Given the description of an element on the screen output the (x, y) to click on. 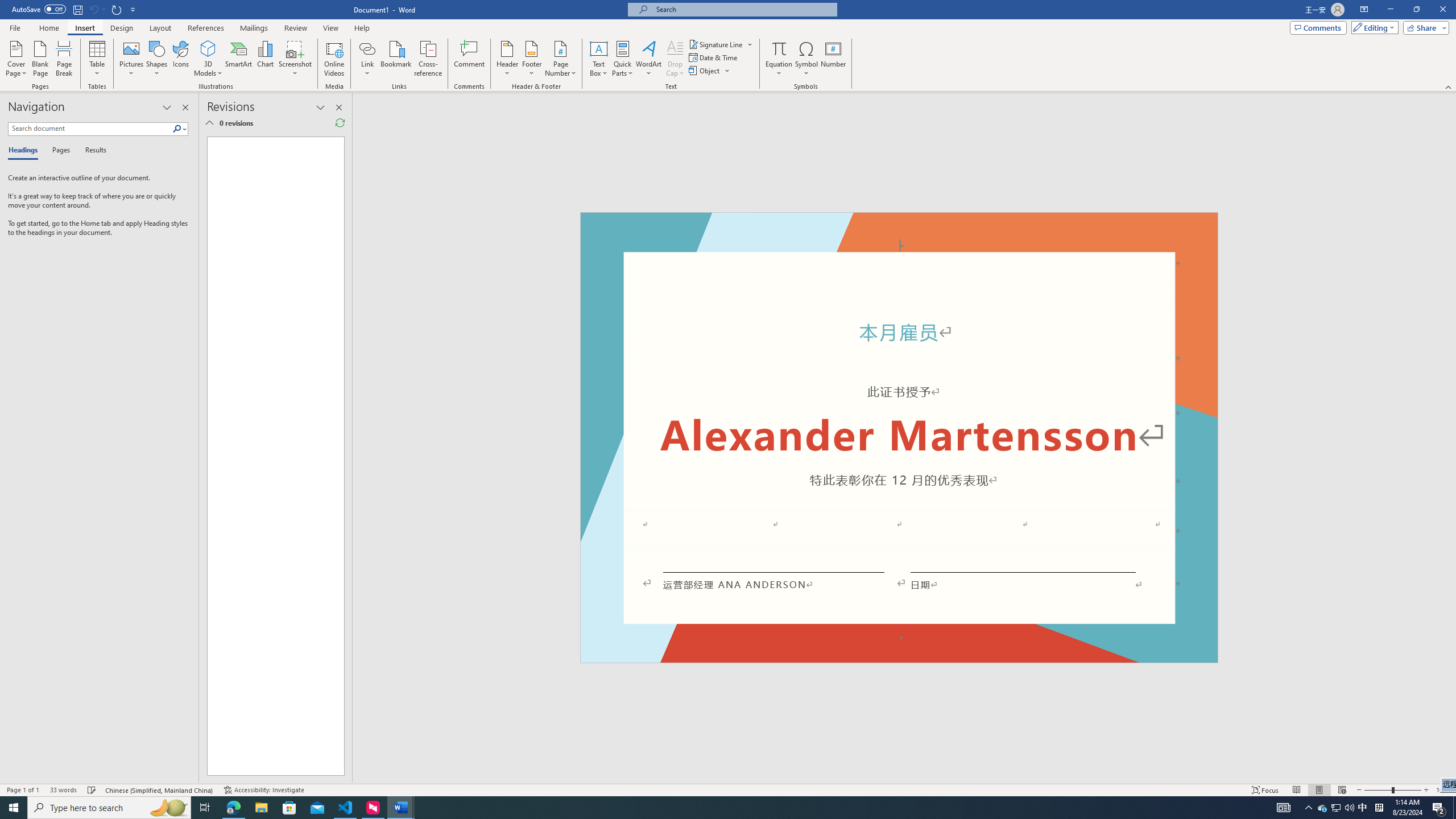
Date & Time... (714, 56)
Pictures (131, 58)
Headings (25, 150)
Icons (180, 58)
Chart... (265, 58)
Online Videos... (333, 58)
Bookmark... (396, 58)
Class: NetUIScrollBar (1450, 437)
Can't Undo (96, 9)
